Given the description of an element on the screen output the (x, y) to click on. 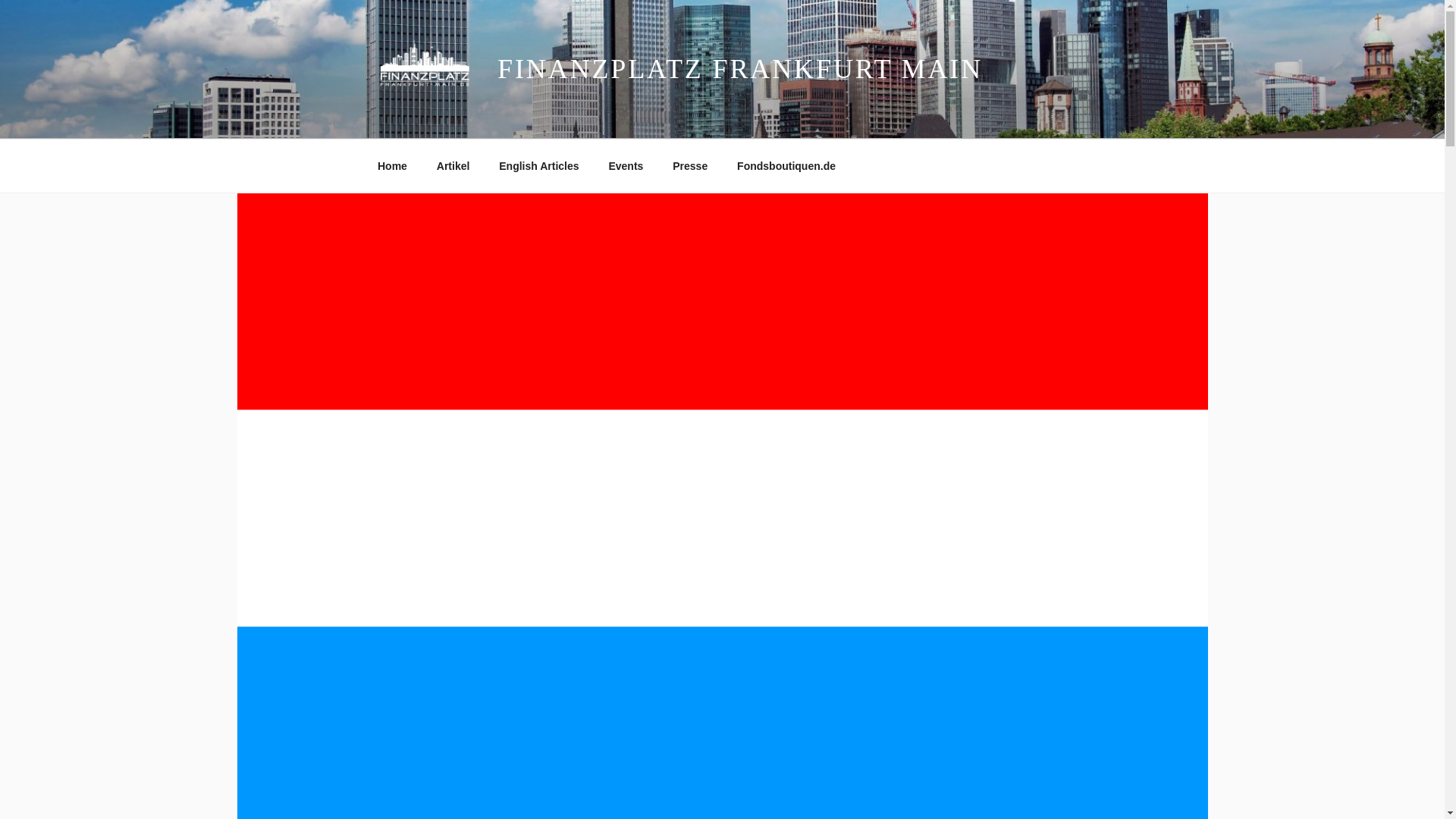
Presse (689, 165)
Fondsboutiquen.de (785, 165)
Artikel (453, 165)
Events (625, 165)
FINANZPLATZ FRANKFURT MAIN (739, 69)
Home (392, 165)
English Articles (539, 165)
